Given the description of an element on the screen output the (x, y) to click on. 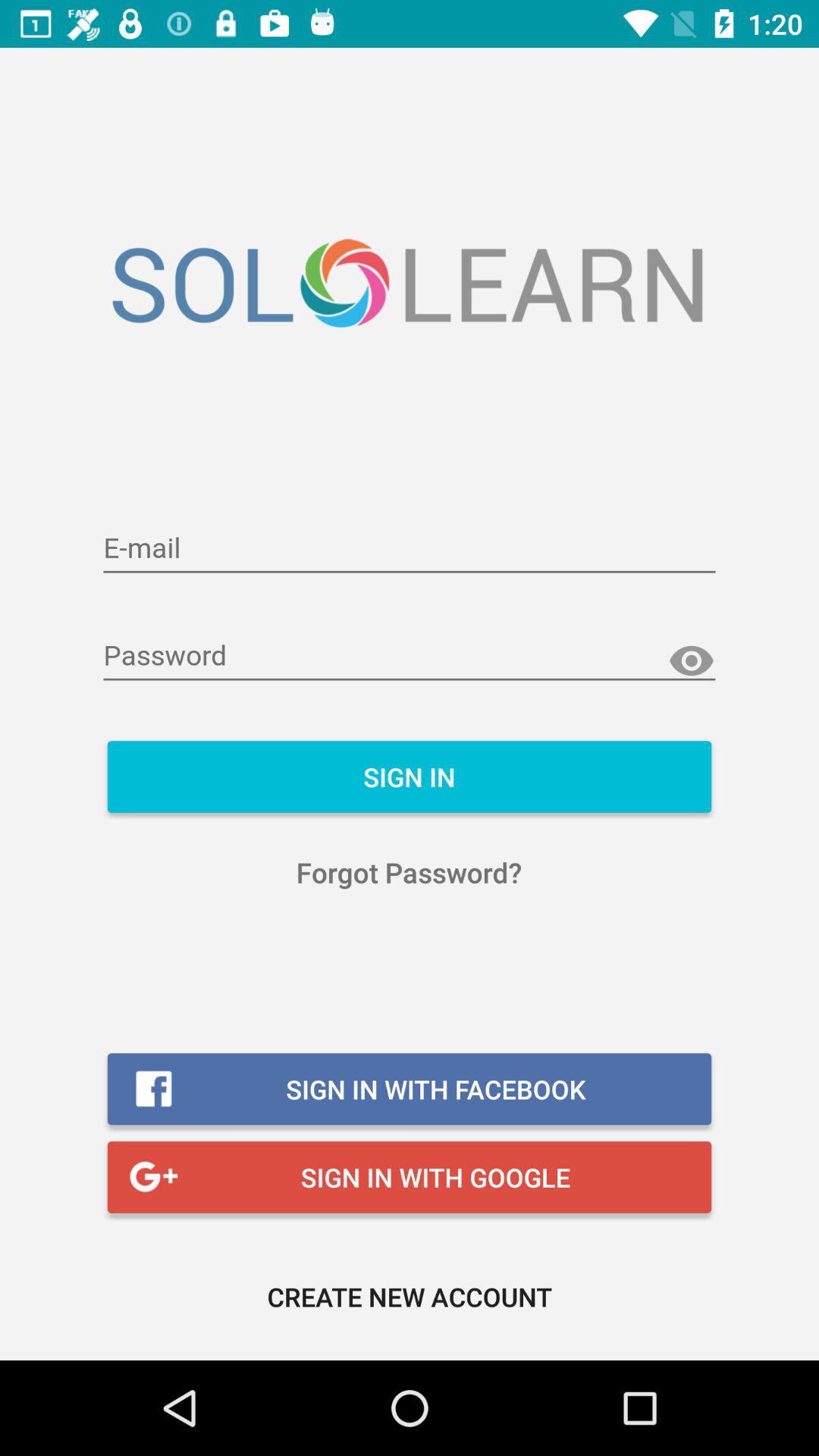
select create new account item (409, 1296)
